Given the description of an element on the screen output the (x, y) to click on. 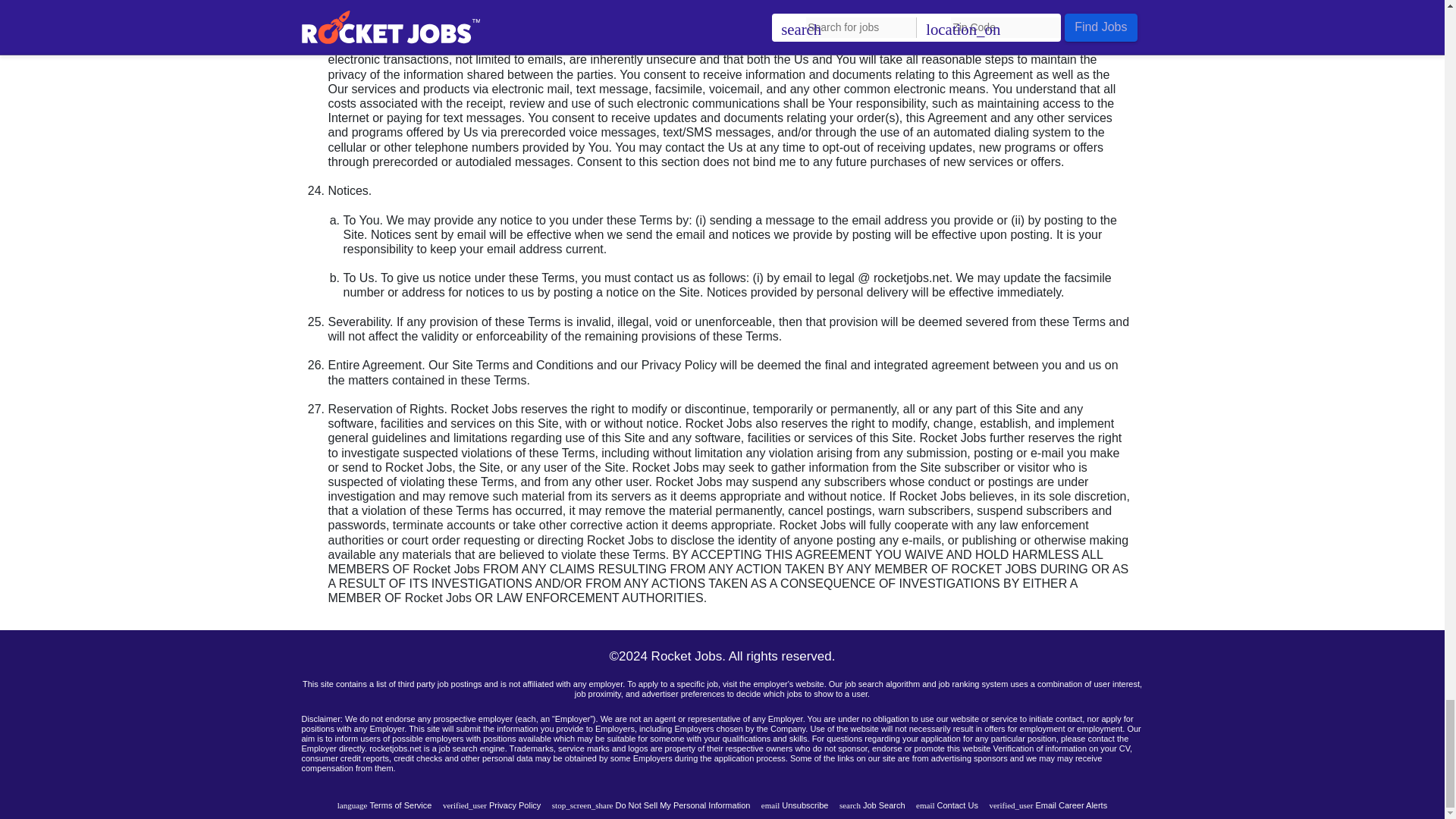
emailUnsubscribe (794, 804)
searchJob Search (872, 804)
emailContact Us (946, 804)
languageTerms of Service (384, 804)
